Given the description of an element on the screen output the (x, y) to click on. 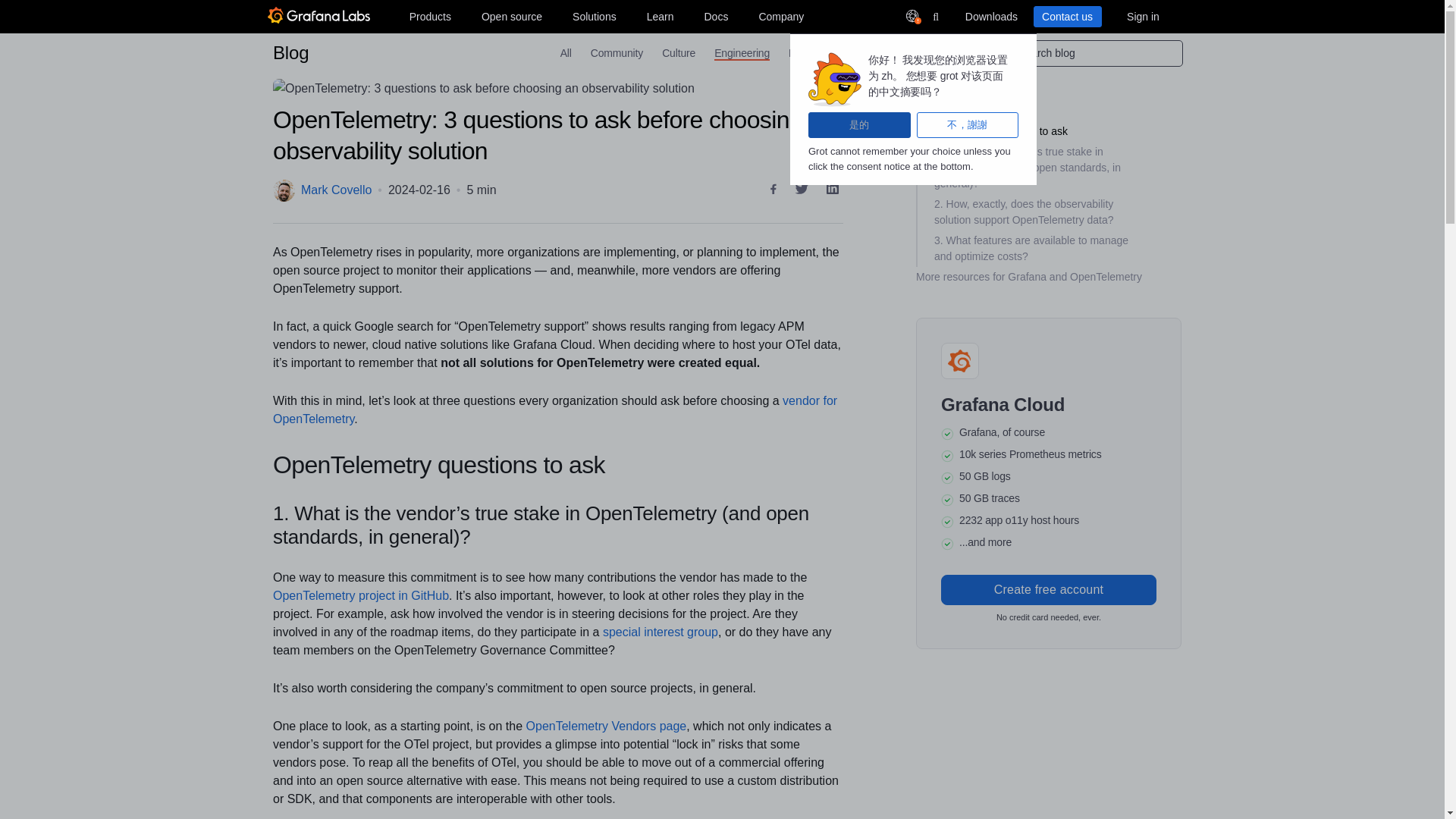
Sign in (1142, 16)
Downloads (990, 16)
Open source (512, 16)
Company (780, 16)
Learn (660, 16)
Products (429, 16)
Contact us (1066, 16)
Docs (715, 16)
Solutions (594, 16)
